Given the description of an element on the screen output the (x, y) to click on. 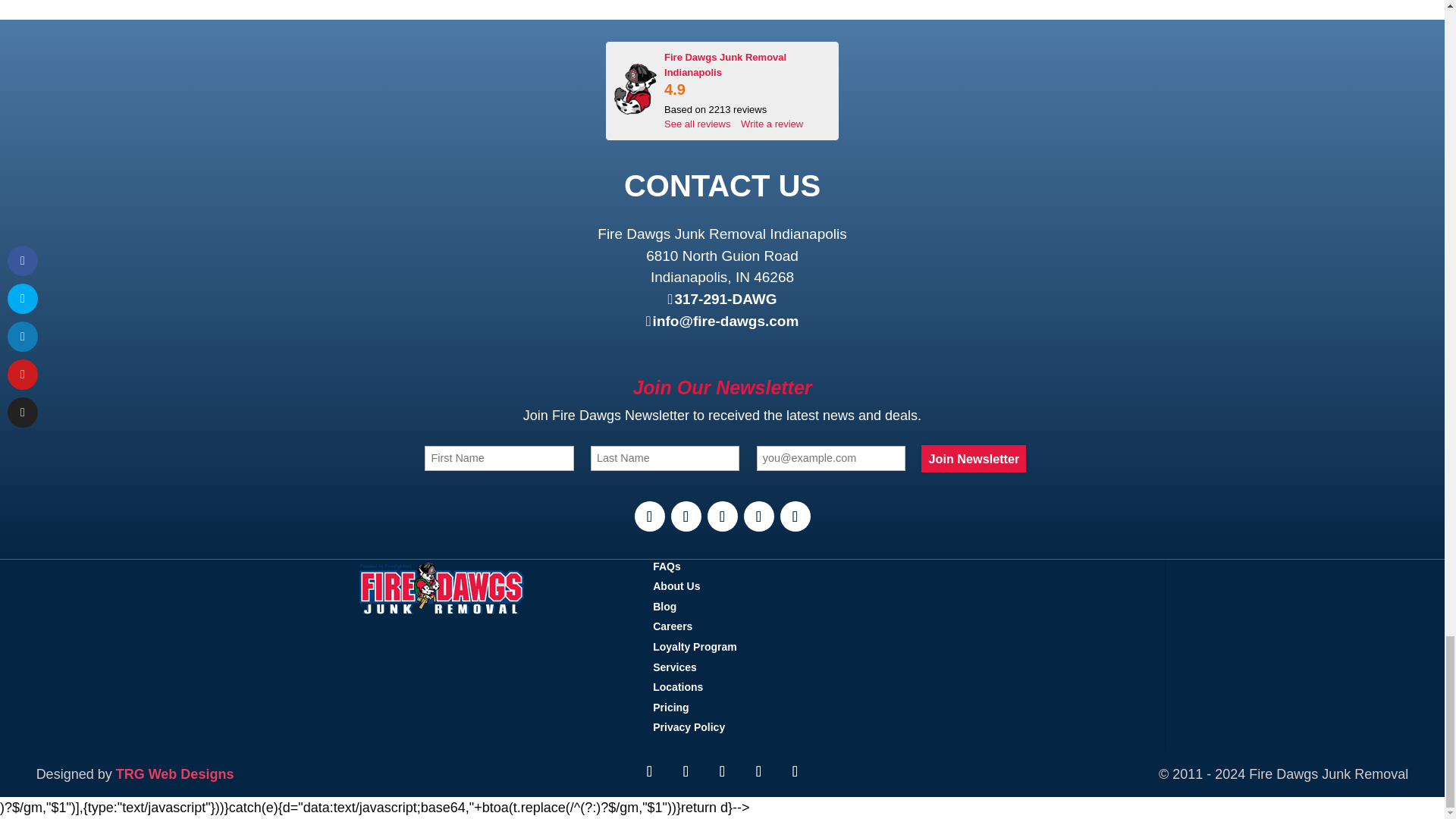
Join Newsletter (973, 458)
Fire Dawgs Junk Removal logo (635, 88)
